Given the description of an element on the screen output the (x, y) to click on. 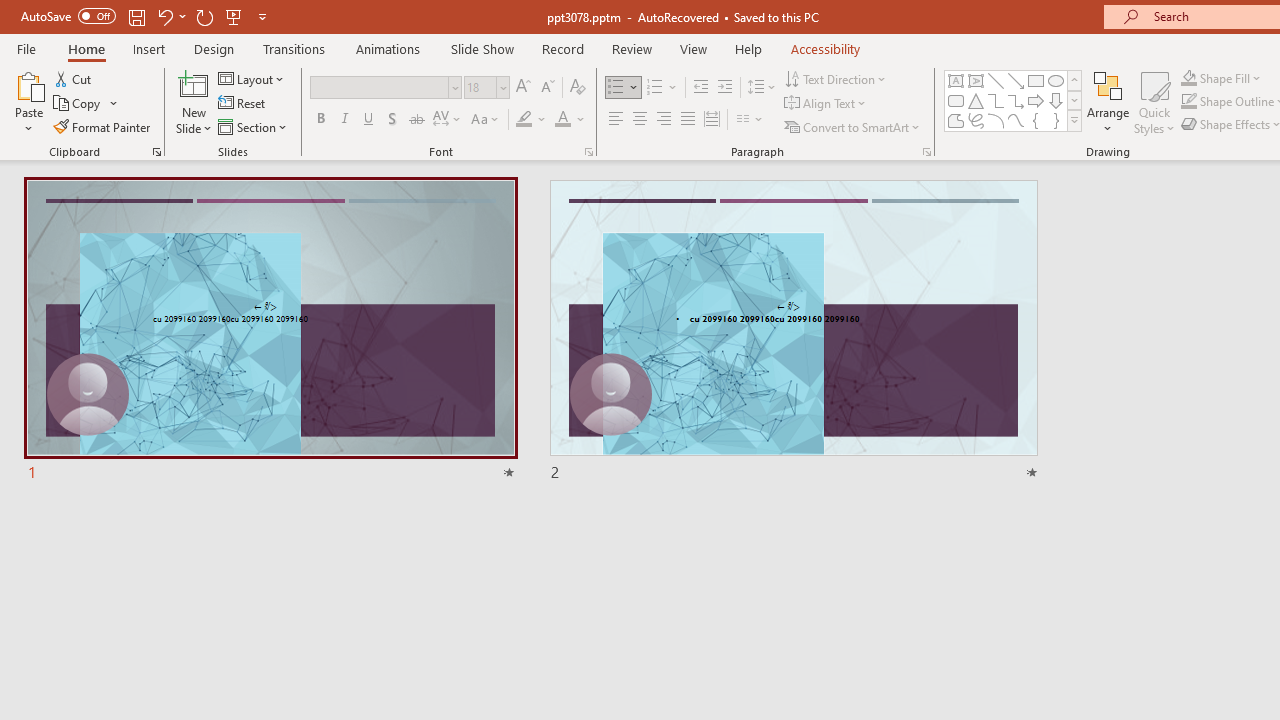
Freeform: Shape (955, 120)
Format Painter (103, 126)
Quick Access Toolbar (145, 16)
Oval (1055, 80)
Reset (243, 103)
From Beginning (234, 15)
Help (748, 48)
New Slide (193, 84)
Paste (28, 84)
Distributed (712, 119)
Row Down (1074, 100)
Arrow: Down (1055, 100)
Right Brace (1055, 120)
Layout (252, 78)
